Given the description of an element on the screen output the (x, y) to click on. 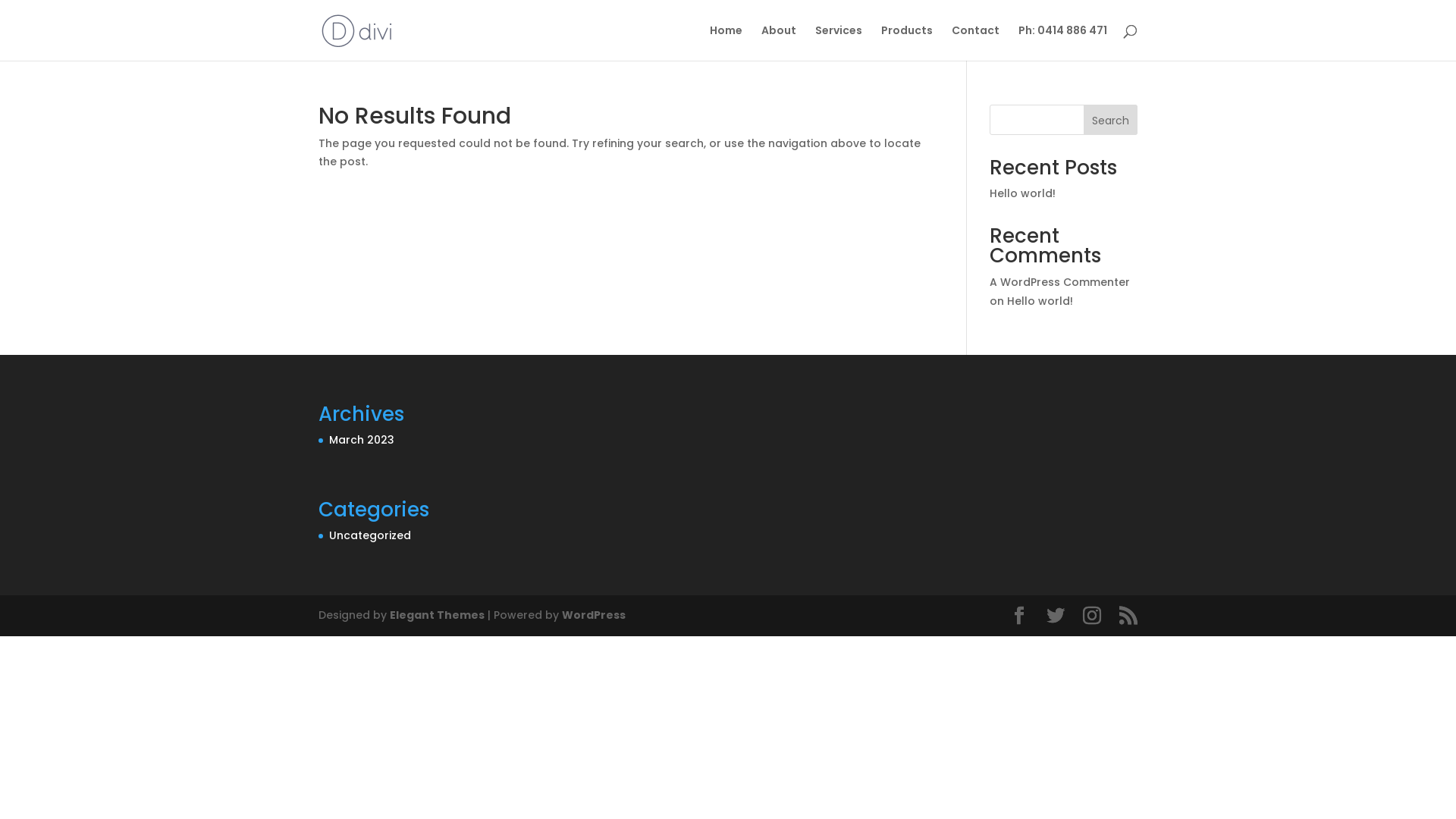
Hello world! Element type: text (1022, 192)
Home Element type: text (725, 42)
Contact Element type: text (975, 42)
Ph: 0414 886 471 Element type: text (1062, 42)
Uncategorized Element type: text (370, 534)
Services Element type: text (838, 42)
March 2023 Element type: text (361, 439)
Elegant Themes Element type: text (436, 614)
A WordPress Commenter Element type: text (1059, 281)
Hello world! Element type: text (1040, 300)
WordPress Element type: text (593, 614)
About Element type: text (778, 42)
Products Element type: text (906, 42)
Search Element type: text (1110, 119)
